Given the description of an element on the screen output the (x, y) to click on. 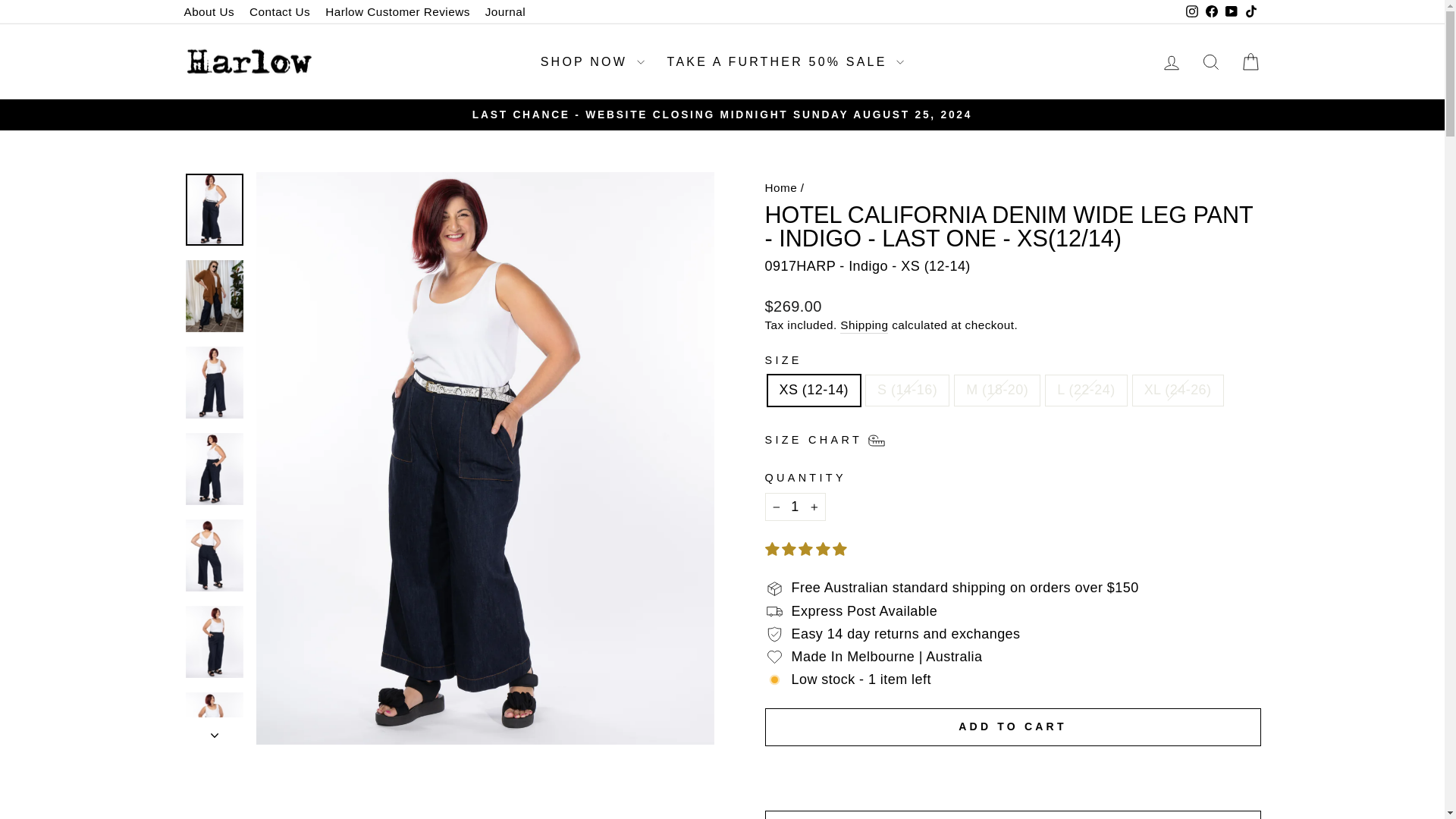
instagram (1192, 10)
Back to the frontpage (780, 187)
icon-chevron (214, 735)
ACCOUNT (1170, 62)
1 (794, 506)
ICON-SEARCH (1210, 61)
